Given the description of an element on the screen output the (x, y) to click on. 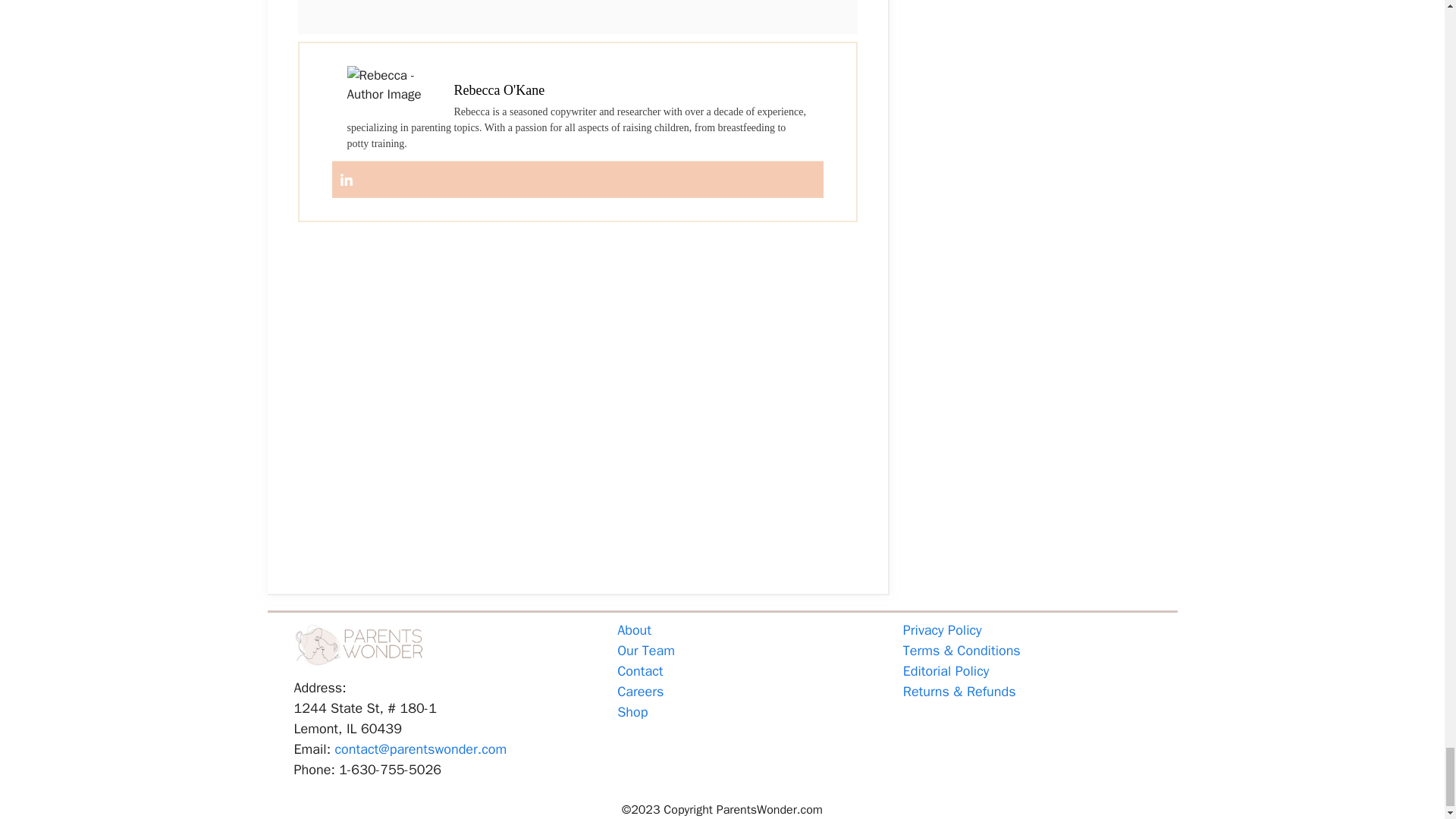
Linkedin (346, 179)
